Given the description of an element on the screen output the (x, y) to click on. 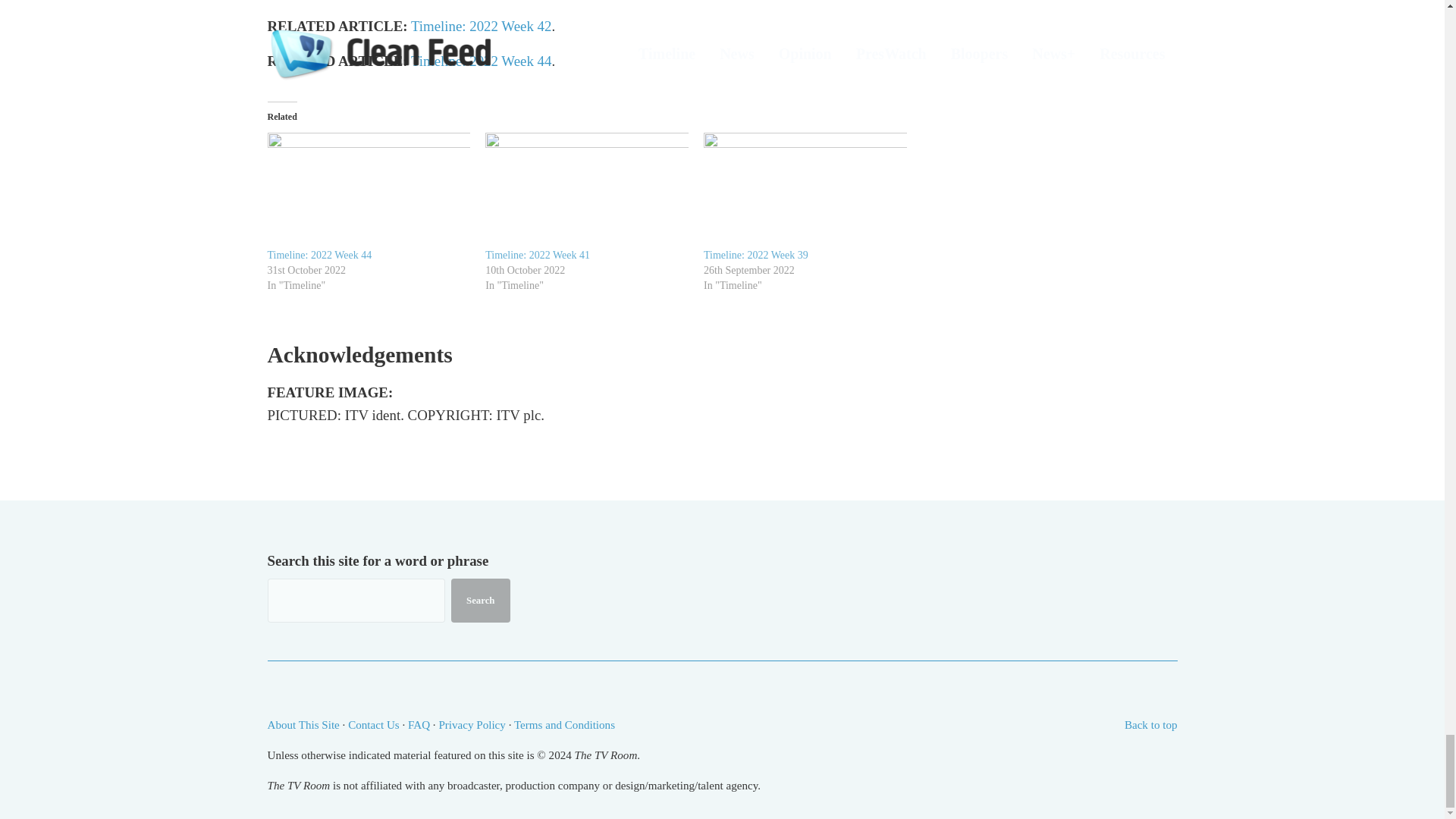
Timeline: 2022 Week 41 (536, 255)
Timeline: 2022 Week 44 (368, 189)
Timeline: 2022 Week 44 (318, 255)
Timeline: 2022 Week 41 (586, 189)
Timeline: 2022 Week 39 (805, 189)
Timeline: 2022 Week 39 (755, 255)
